Given the description of an element on the screen output the (x, y) to click on. 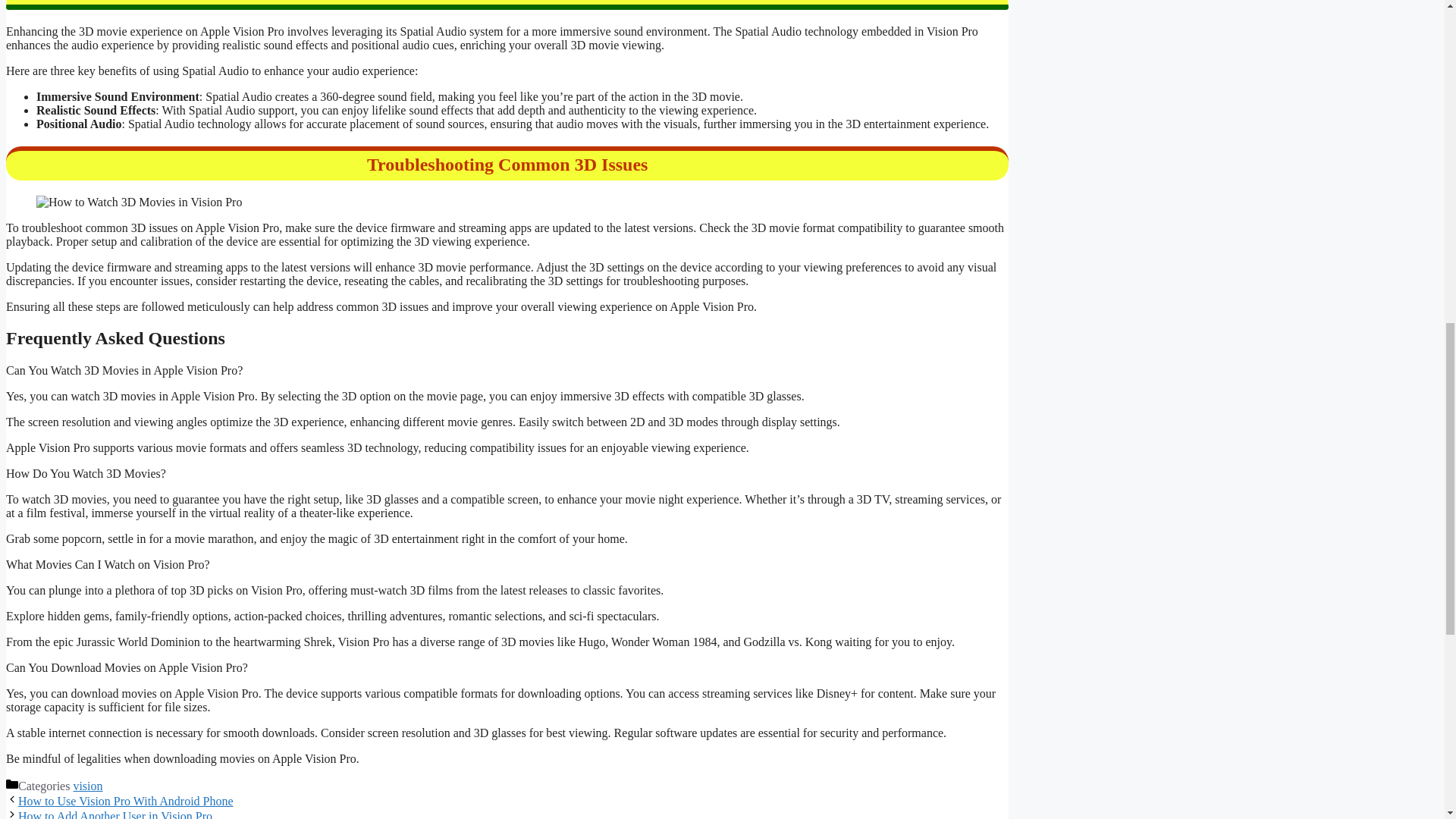
vision (86, 785)
How to Add Another User in Vision Pro (114, 814)
How to Use Vision Pro With Android Phone (124, 800)
